Given the description of an element on the screen output the (x, y) to click on. 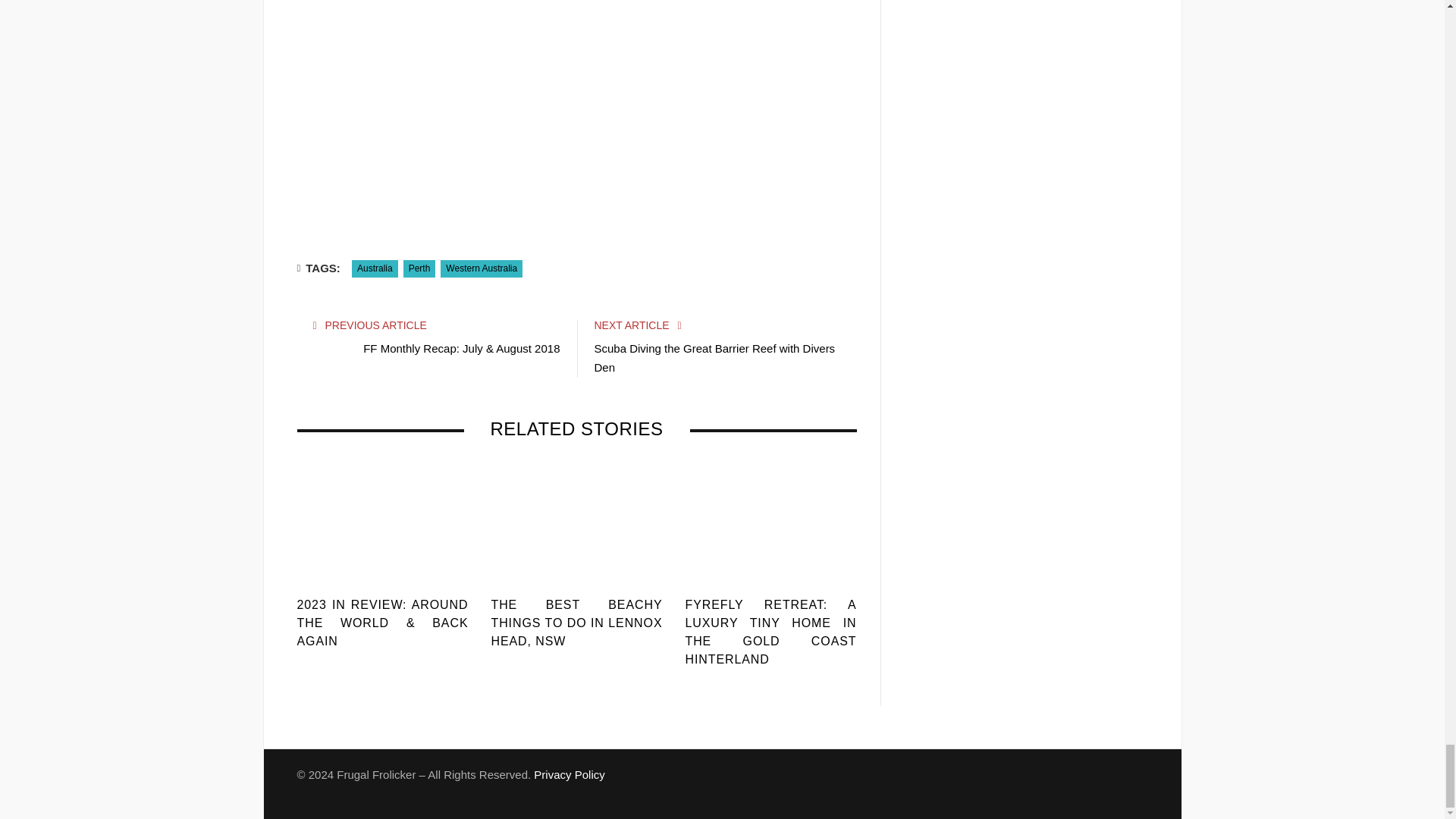
The Best Beachy Things To Do In Lennox Head, NSW (576, 531)
